Given the description of an element on the screen output the (x, y) to click on. 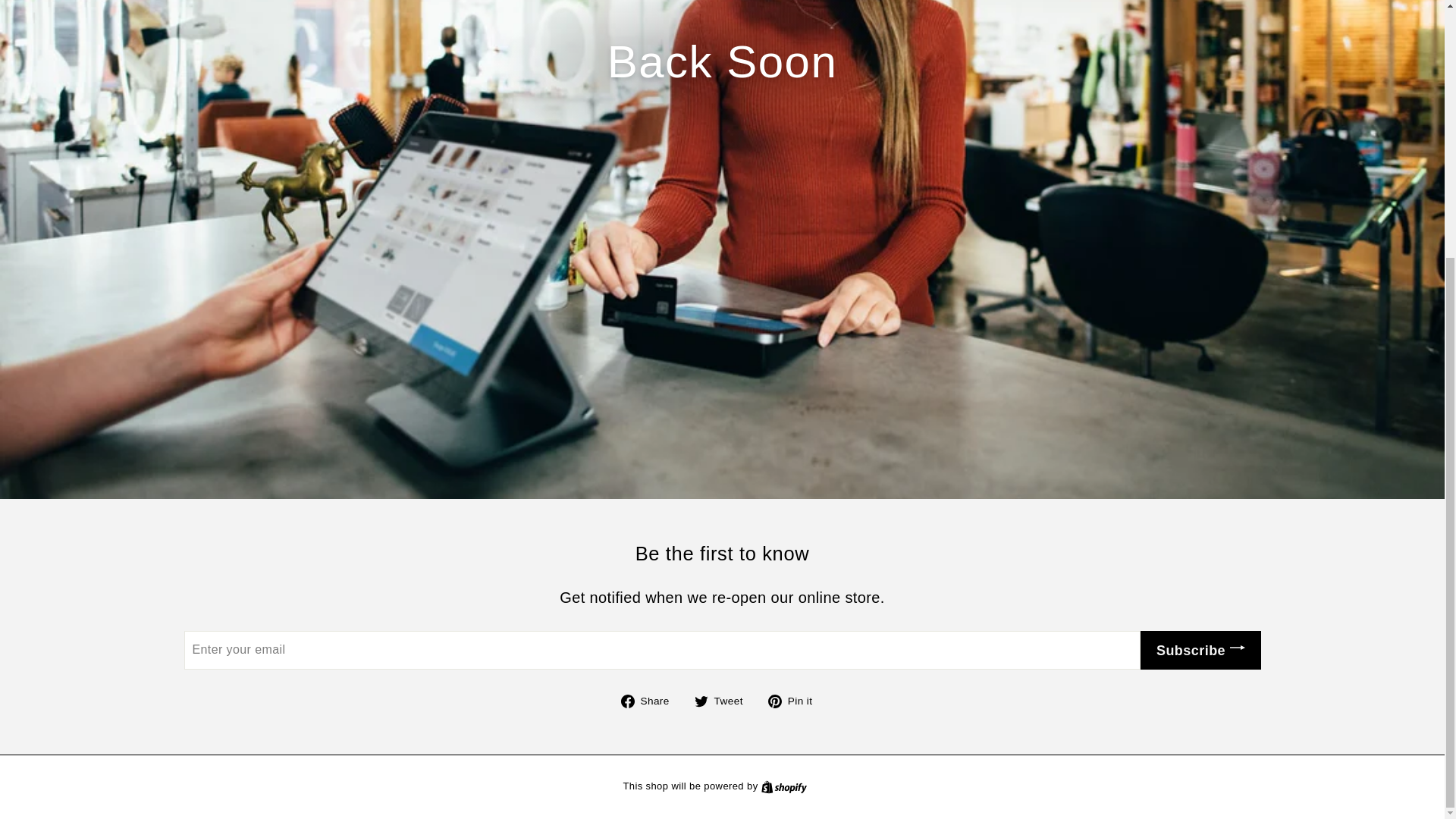
Subscribe icon-right-arrow (1200, 649)
Share on Facebook (651, 700)
icon-right-arrow (791, 787)
Shopify logo (1237, 646)
Tweet on Twitter (796, 700)
twitter (783, 786)
Pin on Pinterest (651, 700)
Create your own online store with Shopify (724, 700)
